Given the description of an element on the screen output the (x, y) to click on. 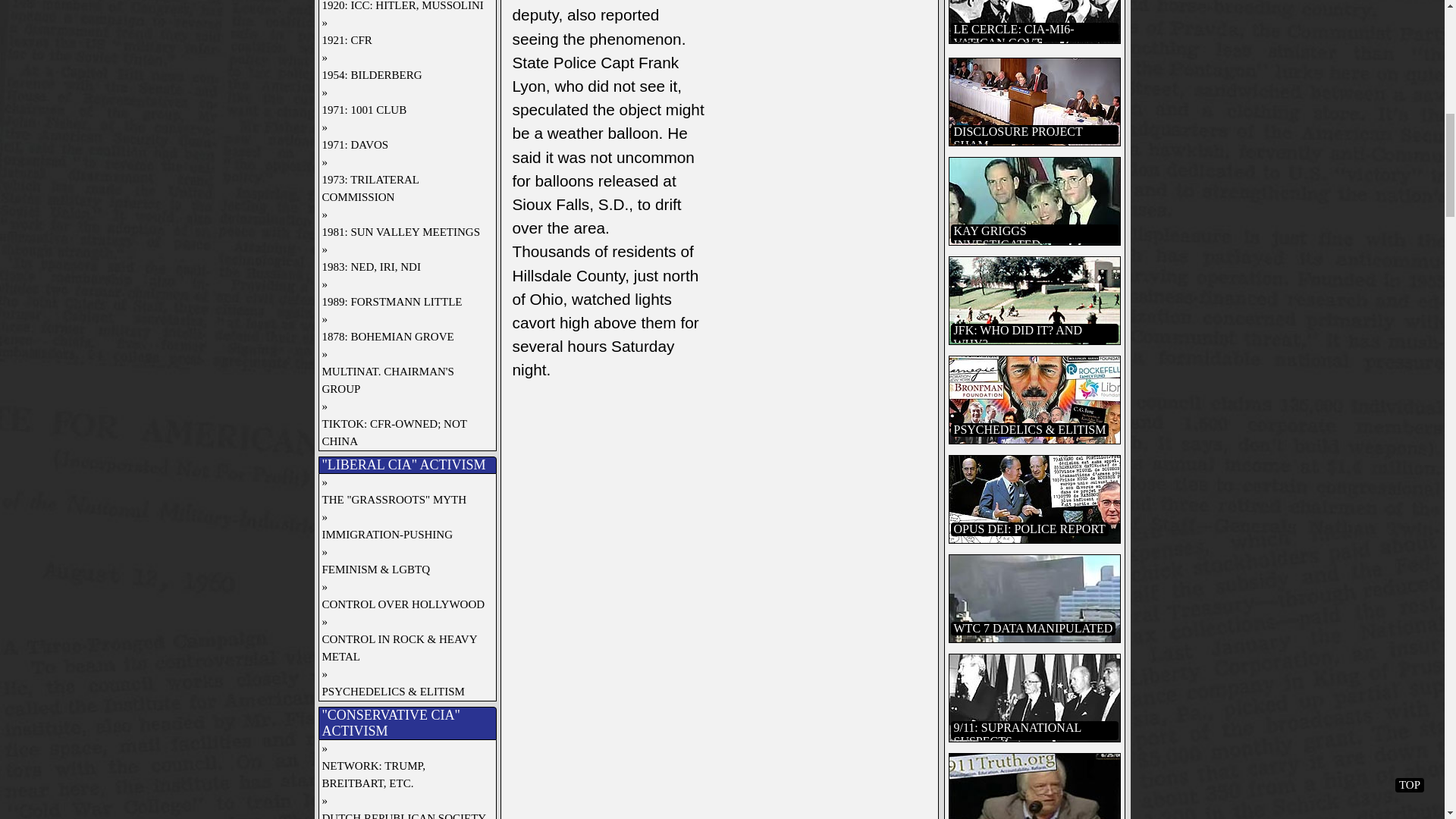
1954: BILDERBERG (403, 75)
1921: CFR (403, 40)
1920: ICC: HITLER, MUSSOLINI (403, 7)
